Given the description of an element on the screen output the (x, y) to click on. 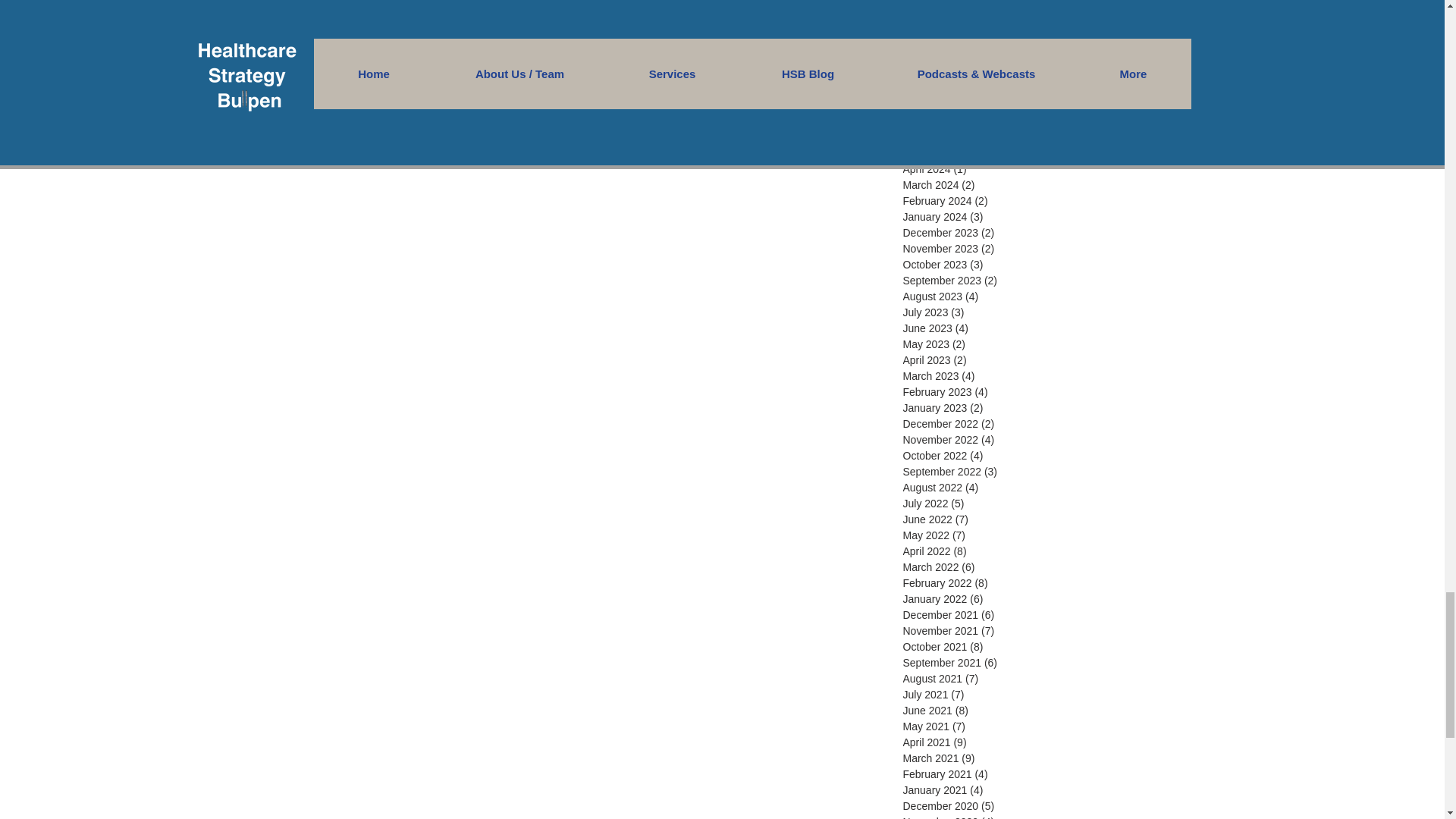
Post not marked as liked (834, 23)
